Given the description of an element on the screen output the (x, y) to click on. 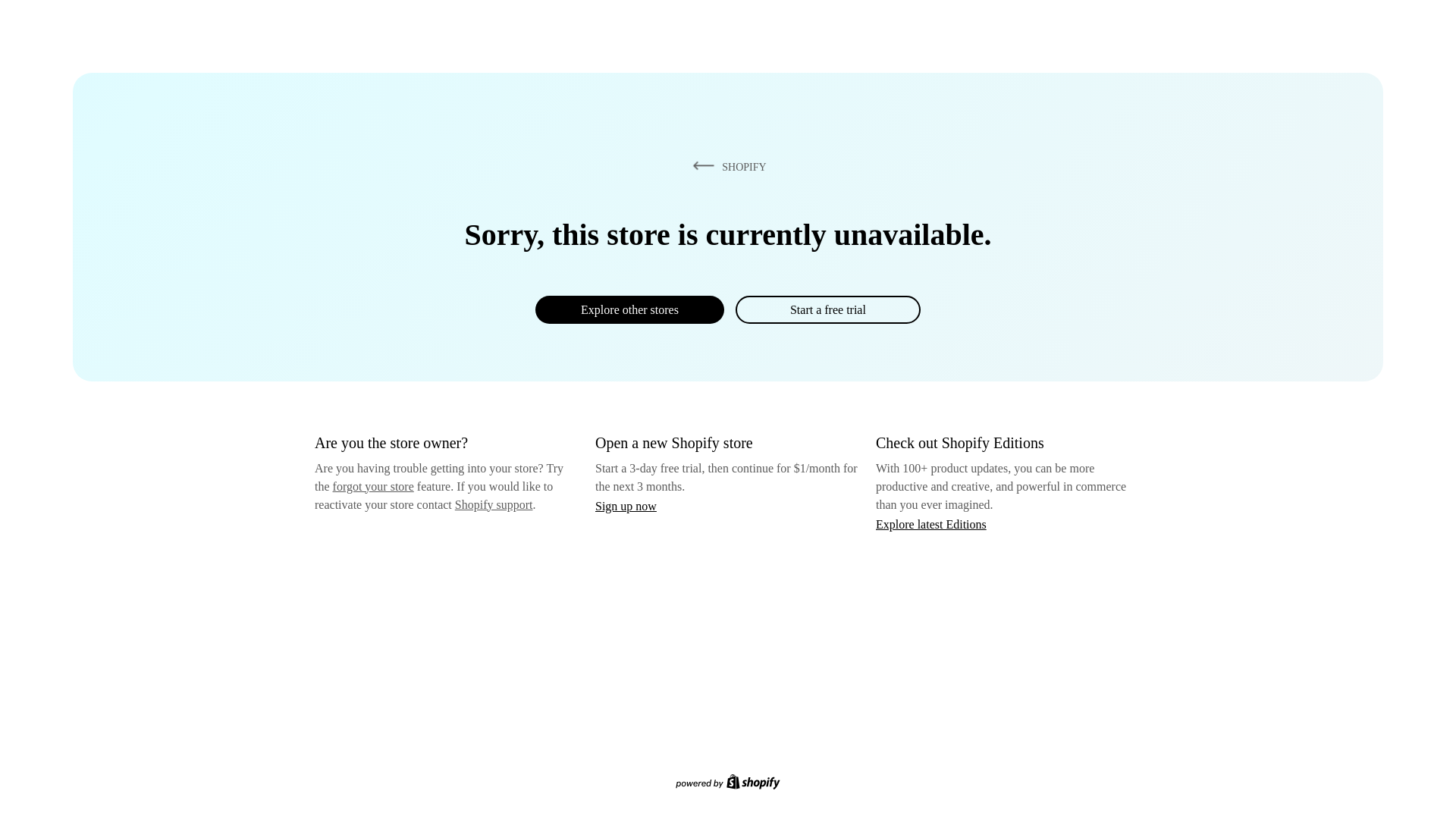
Shopify support (493, 504)
SHOPIFY (726, 166)
Explore other stores (629, 309)
Sign up now (625, 505)
Start a free trial (827, 309)
Explore latest Editions (931, 523)
forgot your store (373, 486)
